Given the description of an element on the screen output the (x, y) to click on. 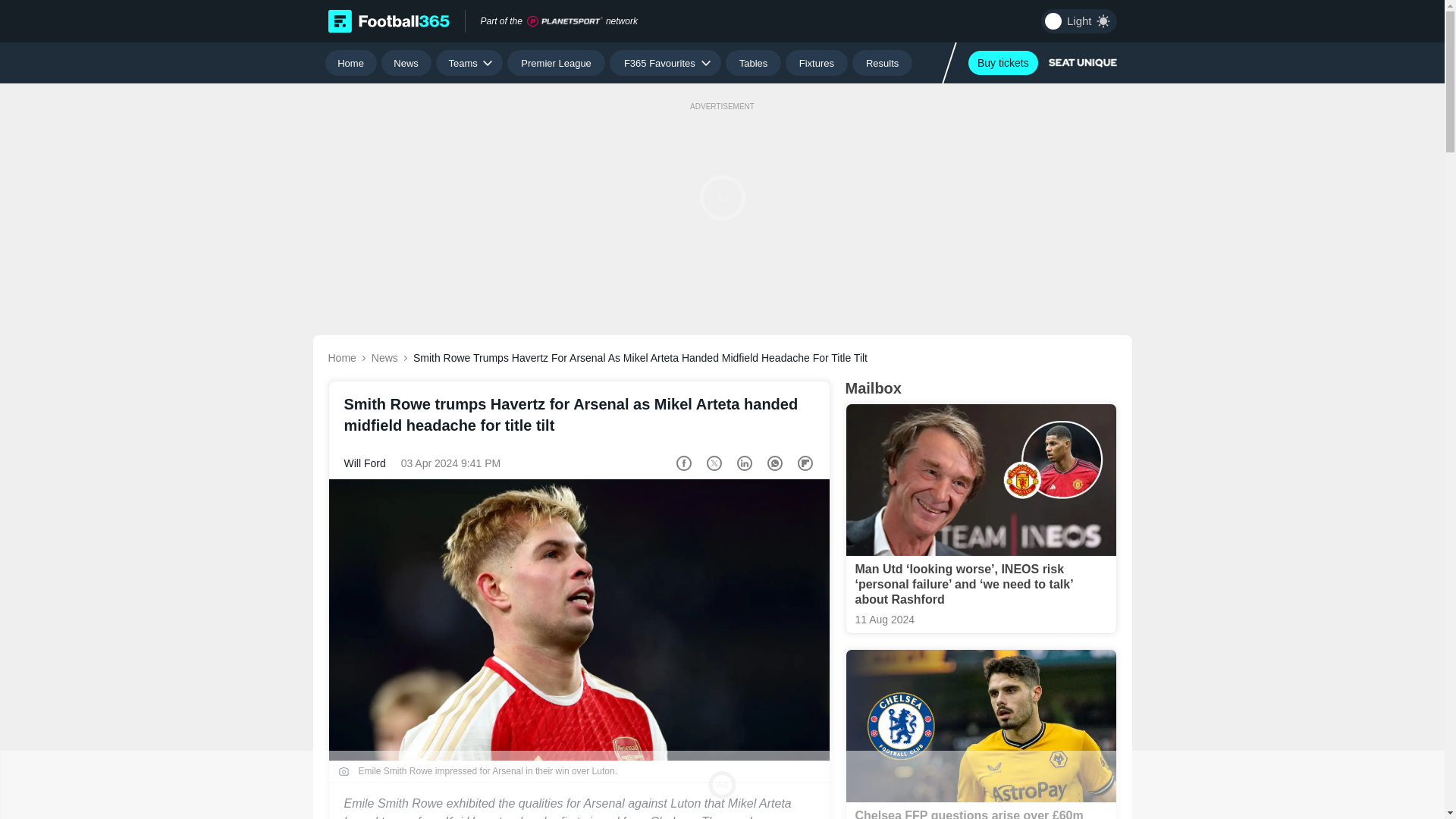
News (405, 62)
Home (349, 62)
Tables (752, 62)
Fixtures (817, 62)
F365 Favourites (665, 62)
Teams (468, 62)
Premier League (555, 62)
